Given the description of an element on the screen output the (x, y) to click on. 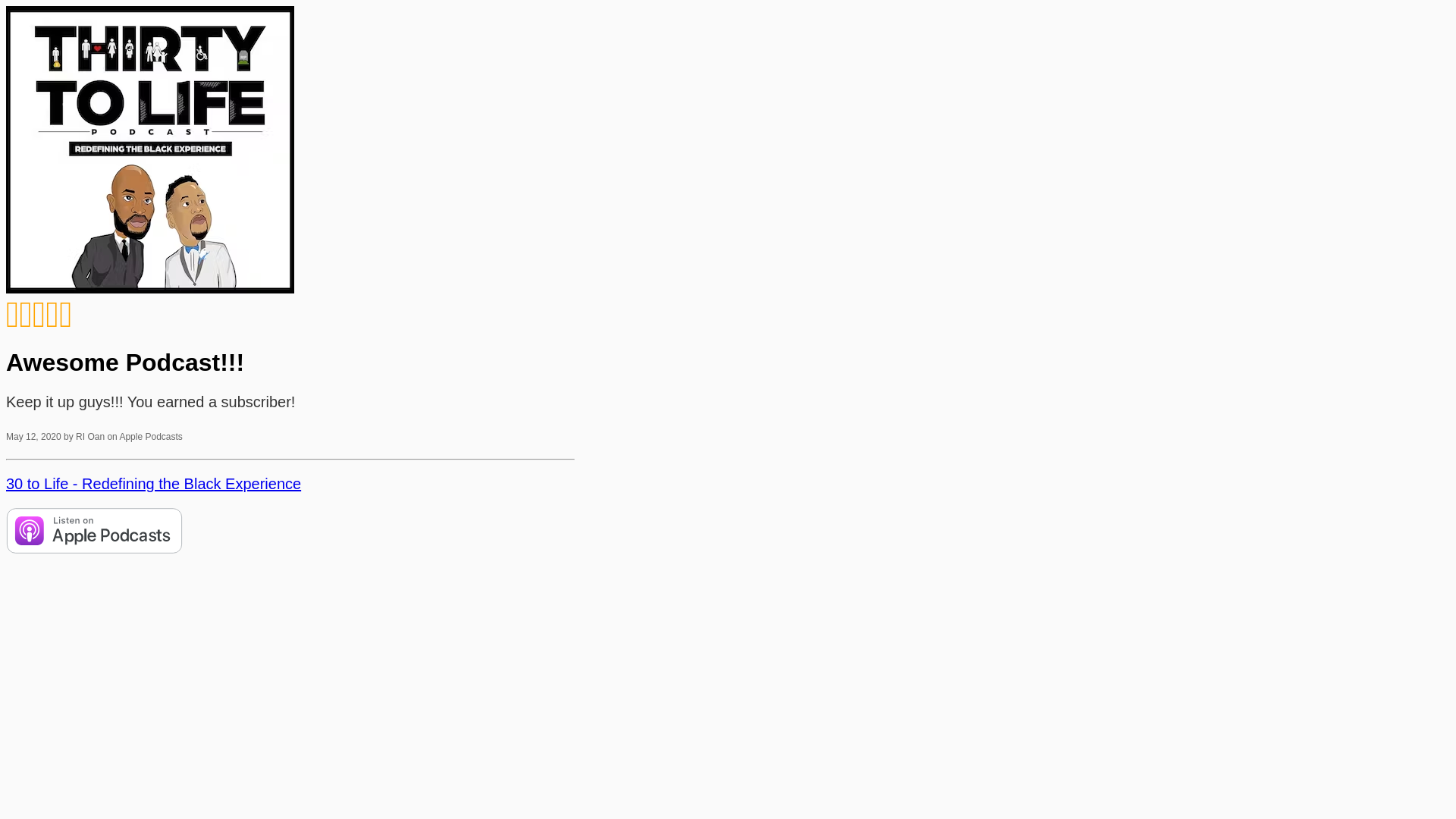
30 to Life - Redefining the Black Experience Element type: hover (150, 149)
30 to Life - Redefining the Black Experience Element type: text (153, 483)
